Given the description of an element on the screen output the (x, y) to click on. 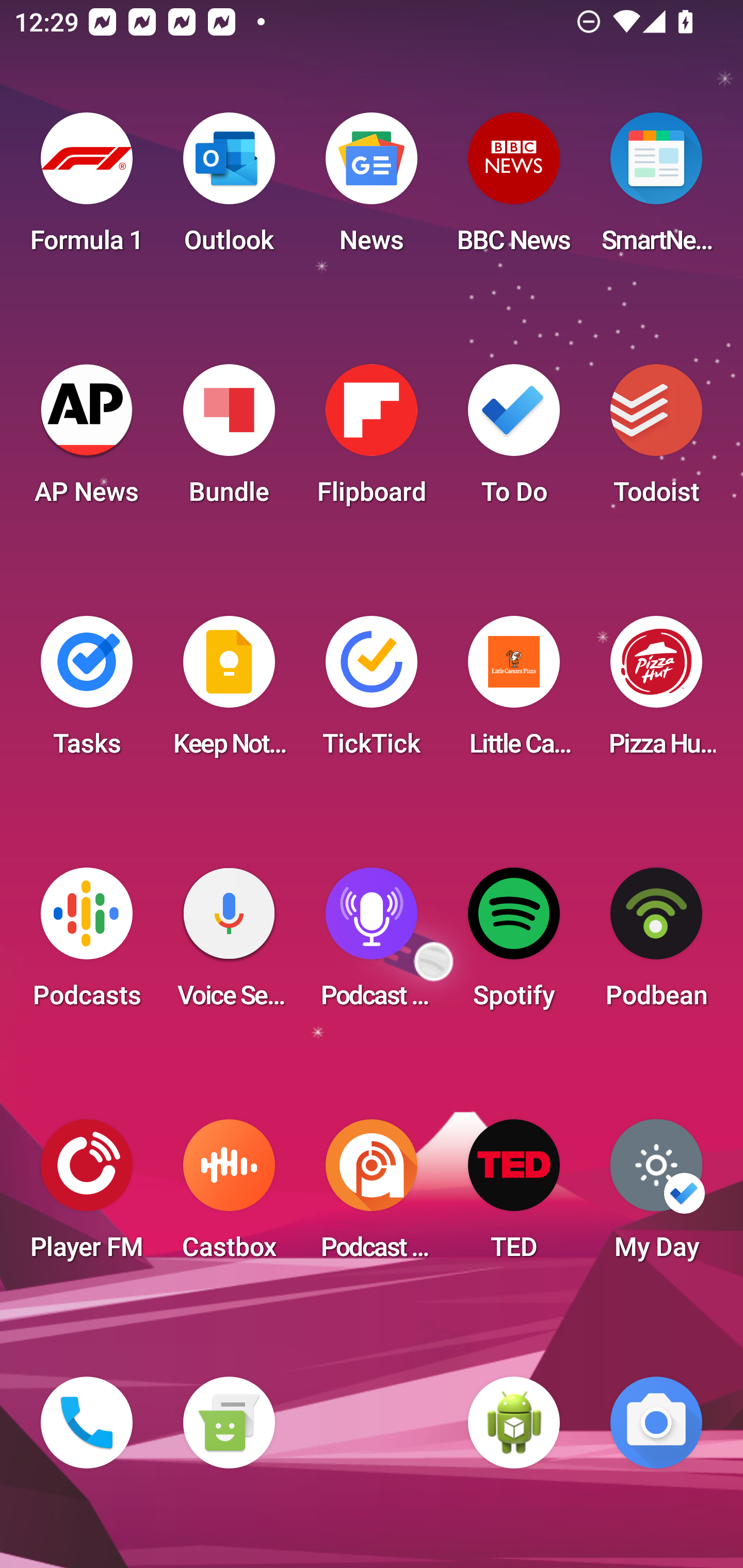
Formula 1 (86, 188)
Outlook (228, 188)
News (371, 188)
BBC News (513, 188)
SmartNews (656, 188)
AP News (86, 440)
Bundle (228, 440)
Flipboard (371, 440)
To Do (513, 440)
Todoist (656, 440)
Tasks (86, 692)
Keep Notes (228, 692)
TickTick (371, 692)
Little Caesars Pizza (513, 692)
Pizza Hut HK & Macau (656, 692)
Podcasts (86, 943)
Voice Search (228, 943)
Podcast Player (371, 943)
Spotify (513, 943)
Podbean (656, 943)
Player FM (86, 1195)
Castbox (228, 1195)
Podcast Addict (371, 1195)
TED (513, 1195)
My Day (656, 1195)
Phone (86, 1422)
Messaging (228, 1422)
WebView Browser Tester (513, 1422)
Camera (656, 1422)
